Given the description of an element on the screen output the (x, y) to click on. 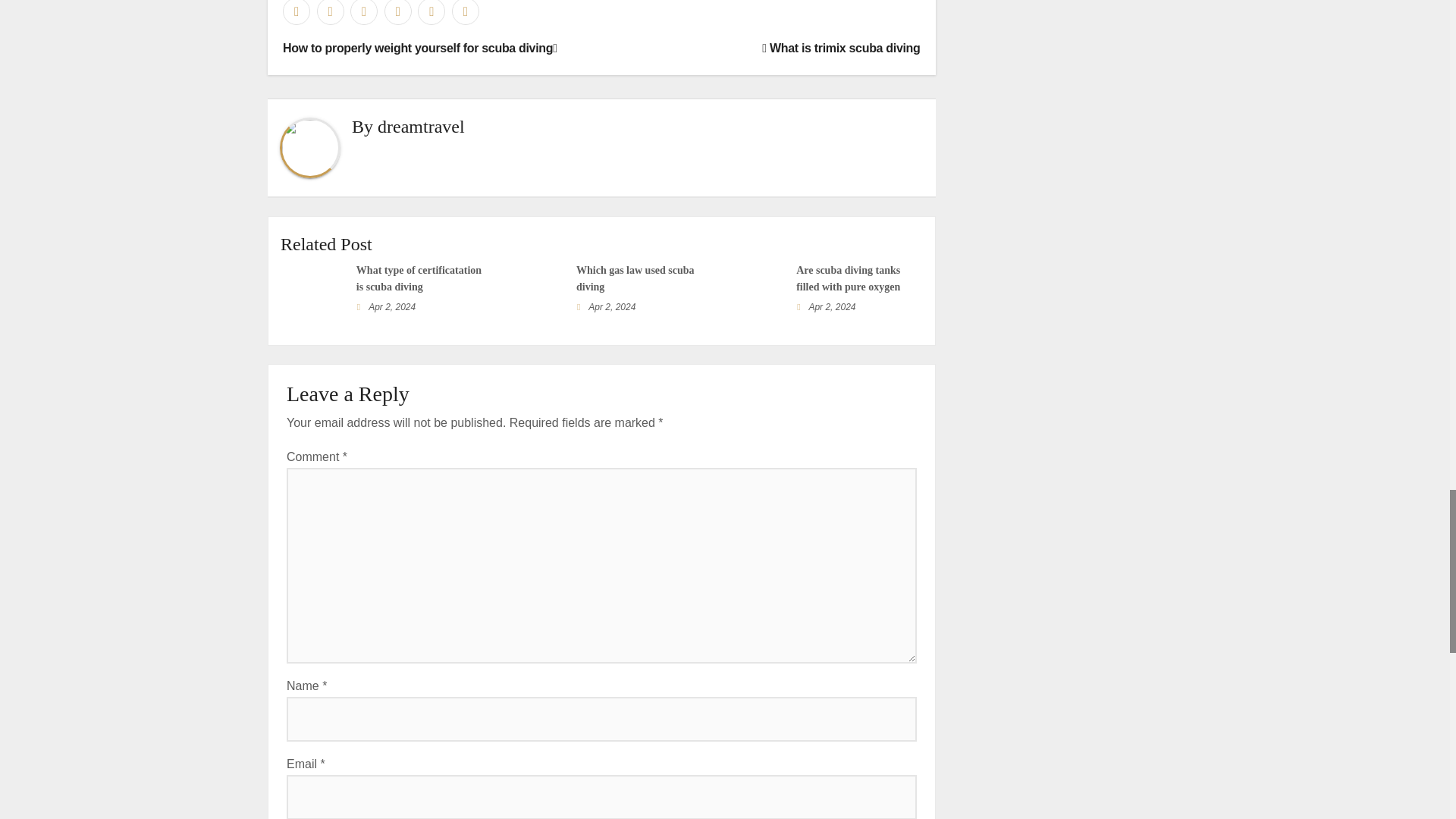
How to properly weight yourself for scuba diving (419, 47)
What is trimix scuba diving (840, 47)
